Given the description of an element on the screen output the (x, y) to click on. 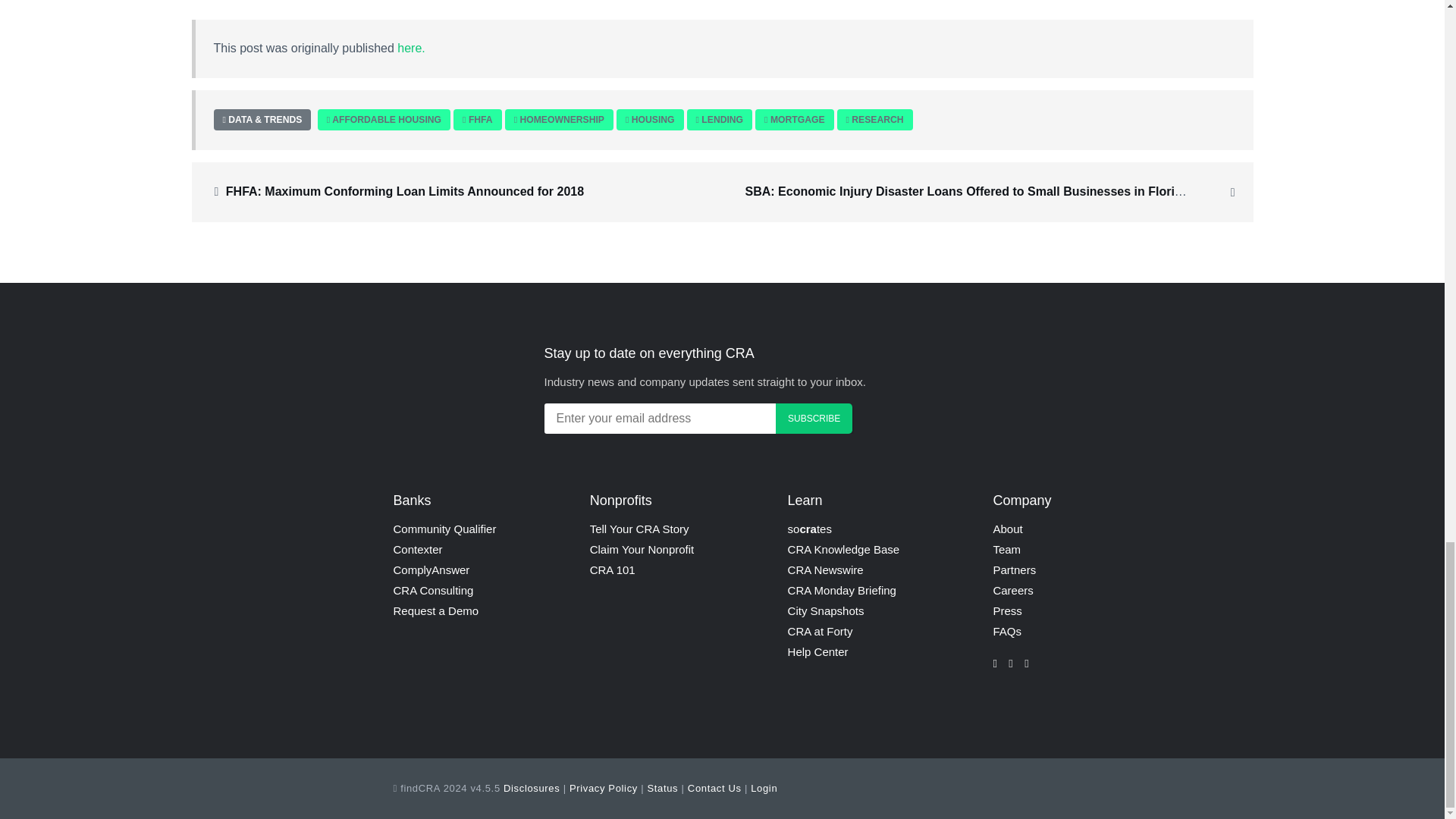
Community Qualifier (444, 528)
RESEARCH (876, 119)
Subscribe (813, 418)
AFFORDABLE HOUSING (386, 119)
FHFA: Maximum Conforming Loan Limits Announced for 2018 (404, 191)
Subscribe (813, 418)
Claim Your Nonprofit (641, 549)
ComplyAnswer (430, 569)
Request a Demo (436, 610)
MORTGAGE (797, 119)
CRA Consulting (433, 590)
HOMEOWNERSHIP (561, 119)
here. (411, 47)
HOUSING (653, 119)
